Given the description of an element on the screen output the (x, y) to click on. 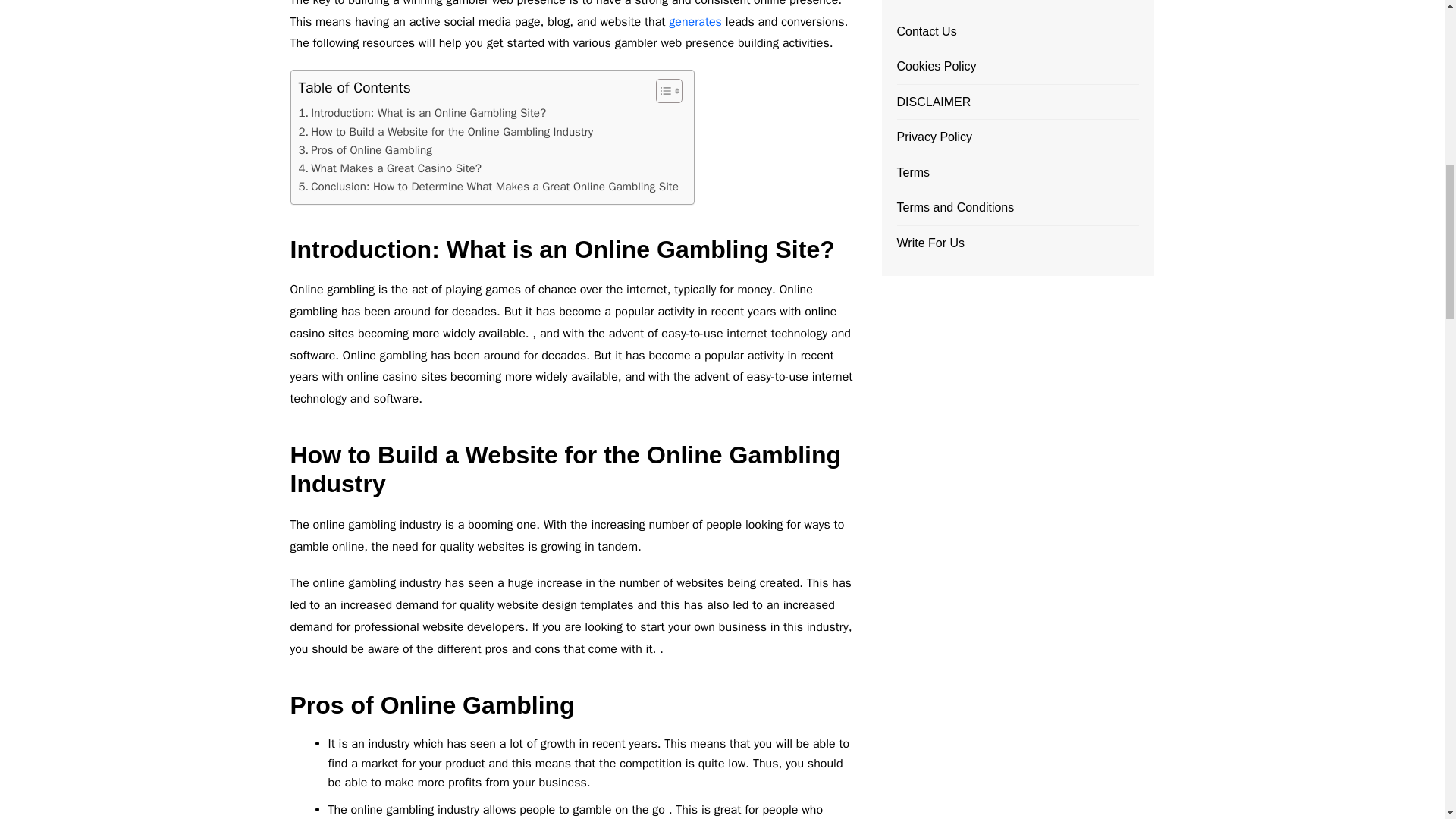
Introduction: What is an Online Gambling Site? (422, 113)
How to Build a Website for the Online Gambling Industry (446, 131)
Pros of Online Gambling (365, 149)
What Makes a Great Casino Site? (389, 167)
